Given the description of an element on the screen output the (x, y) to click on. 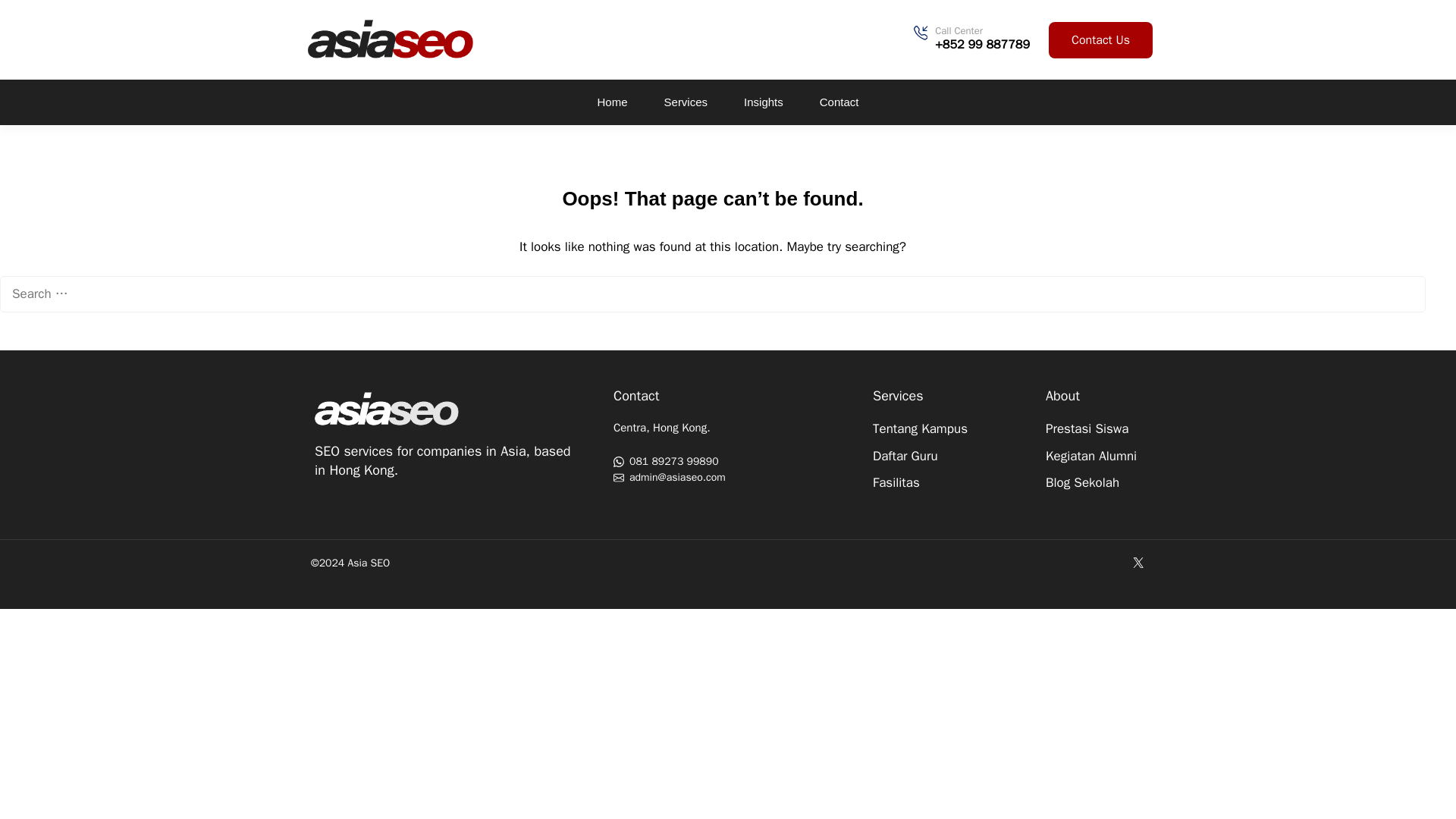
Contact Us (1100, 40)
Insights (763, 102)
Search for: (712, 294)
Prestasi Siswa (1094, 428)
081 89273 99890 (727, 461)
X (1137, 562)
Fasilitas (943, 483)
Services (686, 102)
asiaseo-foot (387, 409)
Home (612, 102)
